Given the description of an element on the screen output the (x, y) to click on. 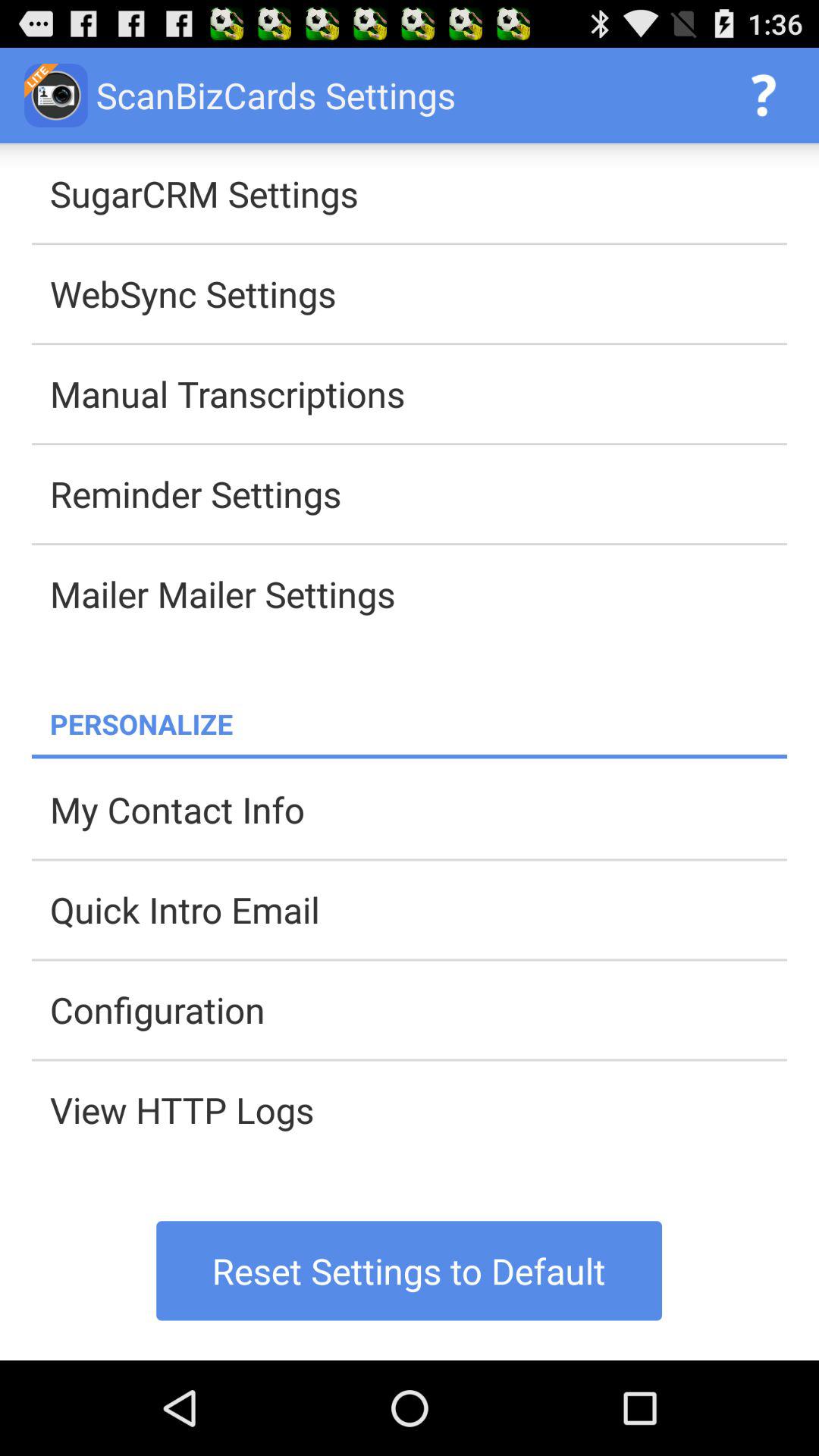
scroll to the mailer mailer settings icon (418, 593)
